Given the description of an element on the screen output the (x, y) to click on. 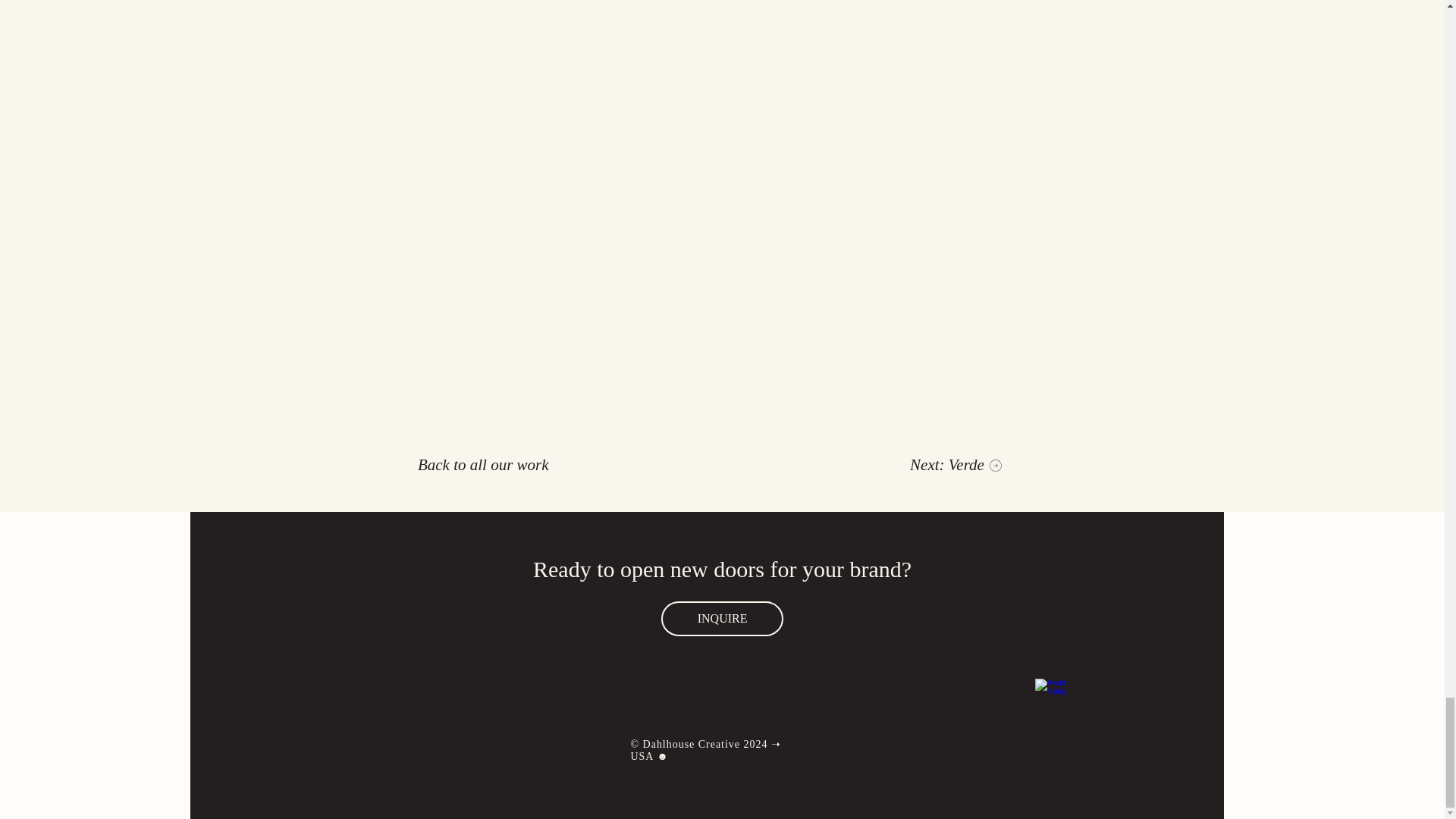
Back to all our work (484, 464)
Next: Verde (955, 464)
INQUIRE (722, 618)
